Given the description of an element on the screen output the (x, y) to click on. 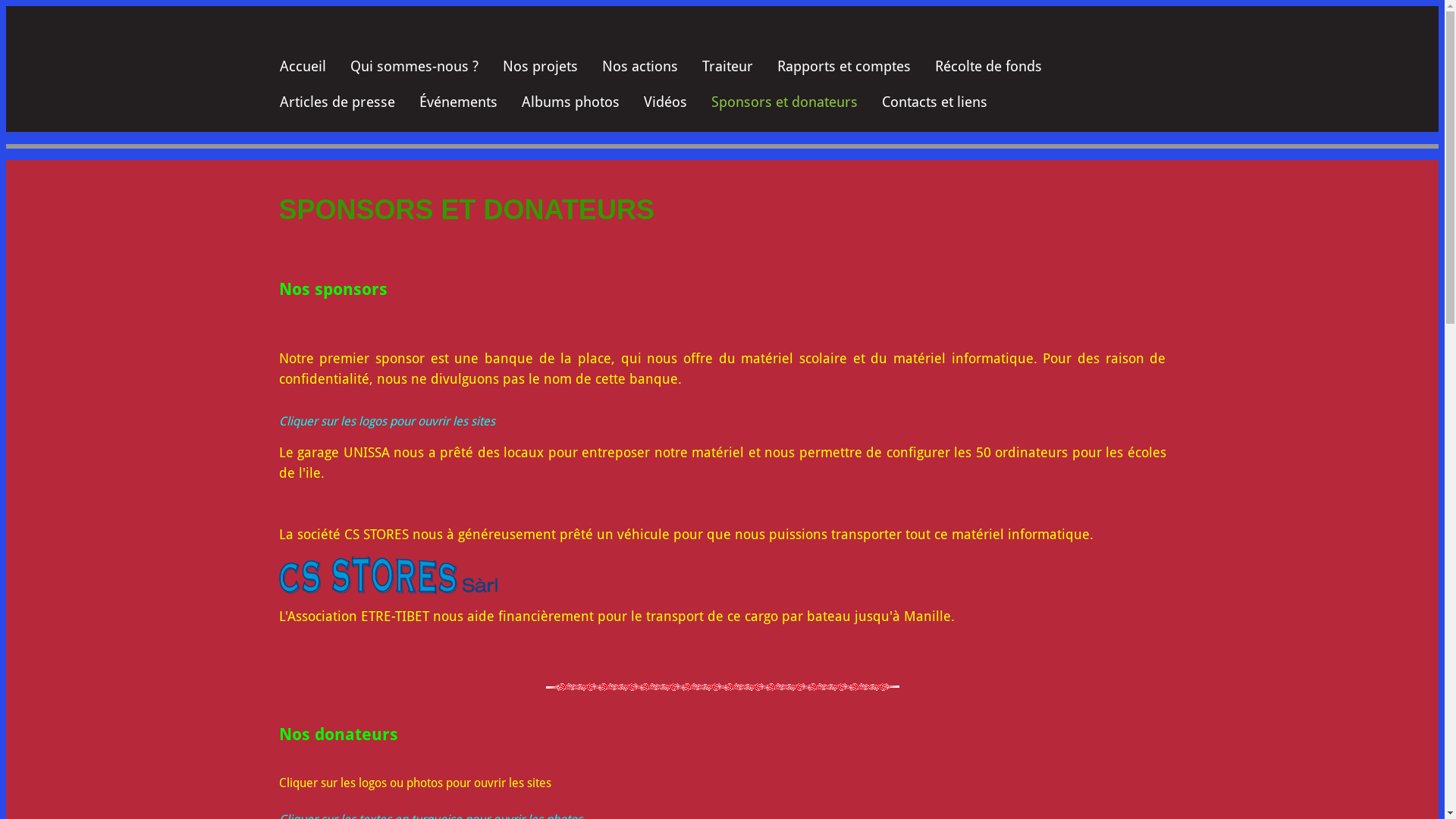
Nos actions Element type: text (640, 66)
Contacts et liens Element type: text (933, 102)
Qui sommes-nous ? Element type: text (414, 66)
Sponsors et donateurs Element type: text (784, 102)
Rapports et comptes Element type: text (843, 66)
Nos projets Element type: text (539, 66)
Accueil Element type: text (302, 66)
Albums photos Element type: text (570, 102)
Traiteur Element type: text (727, 66)
Articles de presse Element type: text (336, 102)
